Given the description of an element on the screen output the (x, y) to click on. 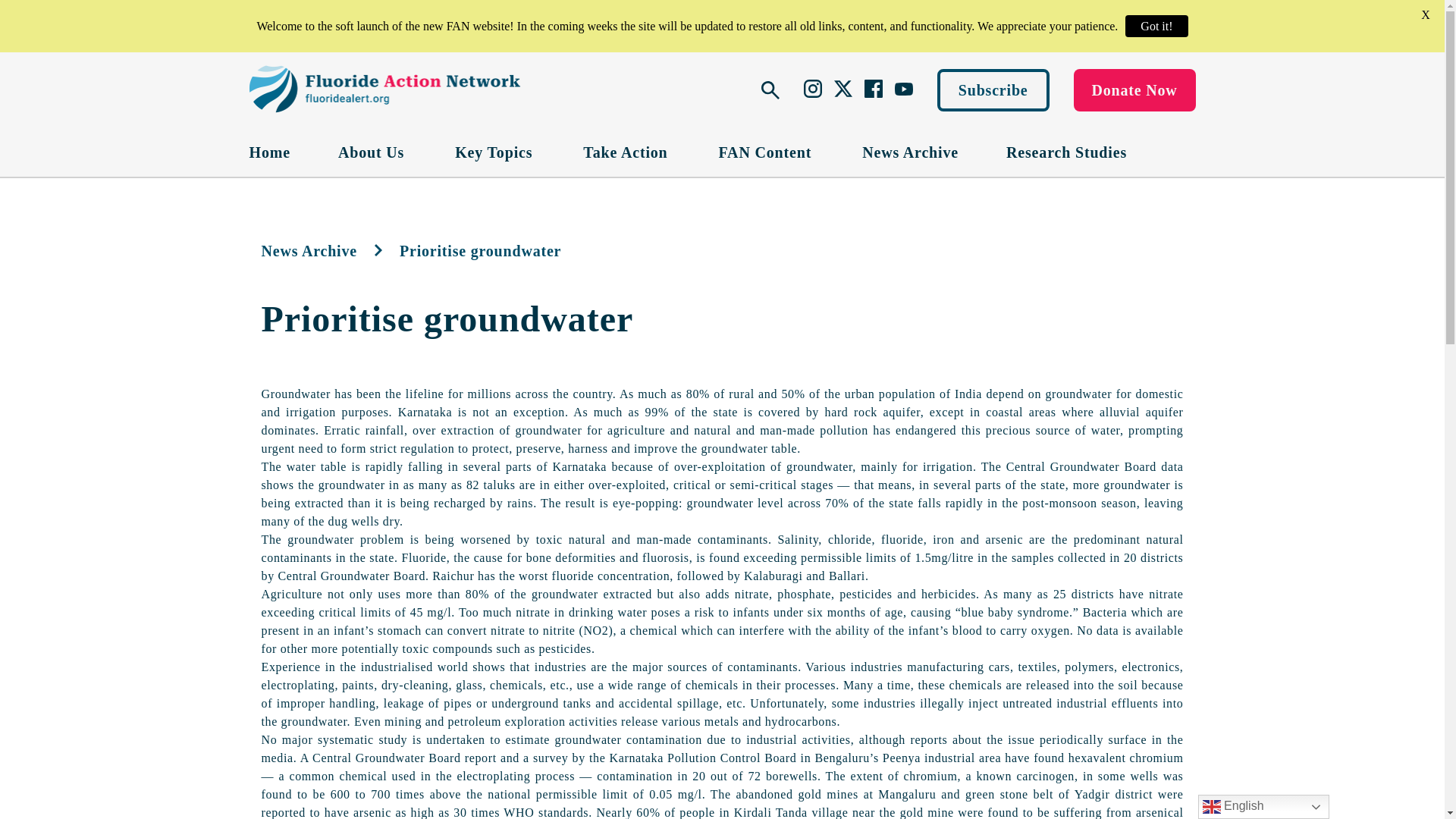
Prioritise groundwater (446, 318)
Key Topics (494, 152)
Subscribe (993, 89)
Research Studies (1066, 152)
Subscribe (992, 89)
Donate Now (1134, 89)
FAN Content (767, 152)
Donate Now (1134, 89)
Take Action (626, 152)
News Archive (909, 152)
About Us (372, 152)
Home (268, 152)
